Given the description of an element on the screen output the (x, y) to click on. 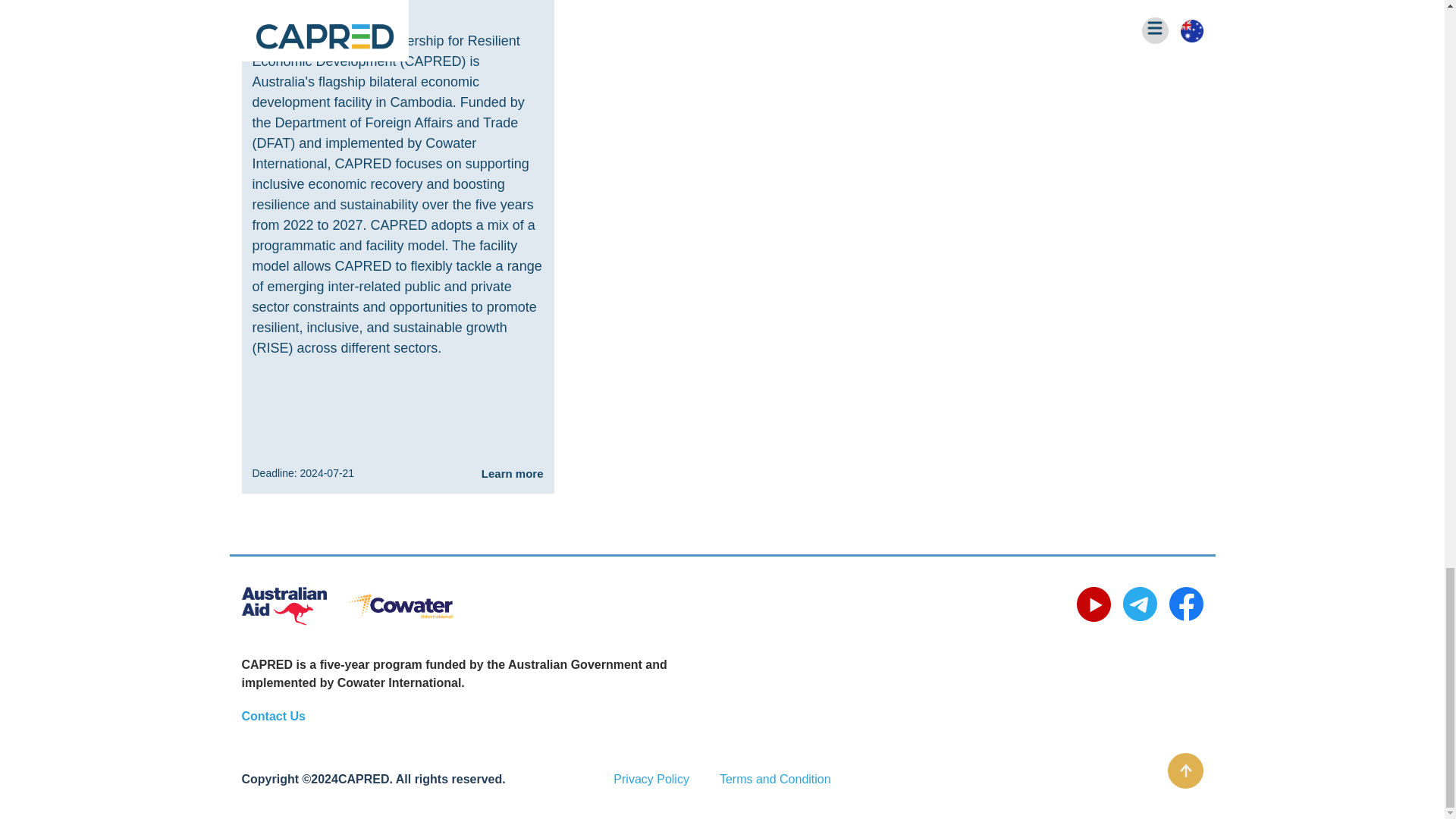
Privacy Policy (650, 779)
Learn more (512, 474)
Contact Us (272, 716)
Terms and Condition (775, 779)
